Given the description of an element on the screen output the (x, y) to click on. 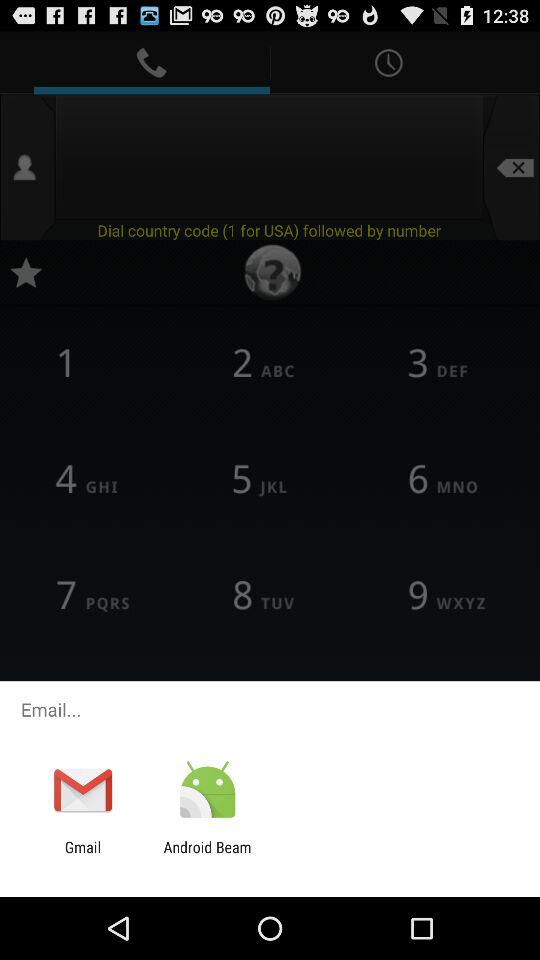
click the app to the left of android beam app (82, 856)
